Given the description of an element on the screen output the (x, y) to click on. 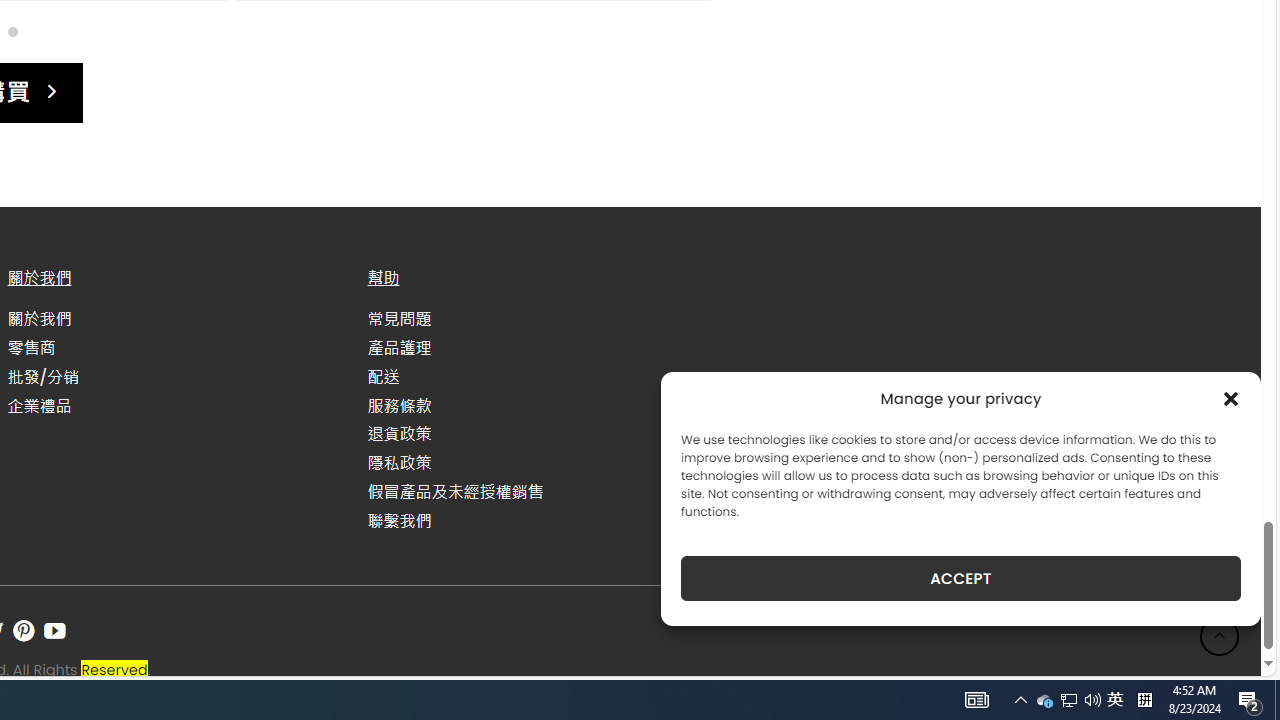
Class: cmplz-close (1231, 398)
